Given the description of an element on the screen output the (x, y) to click on. 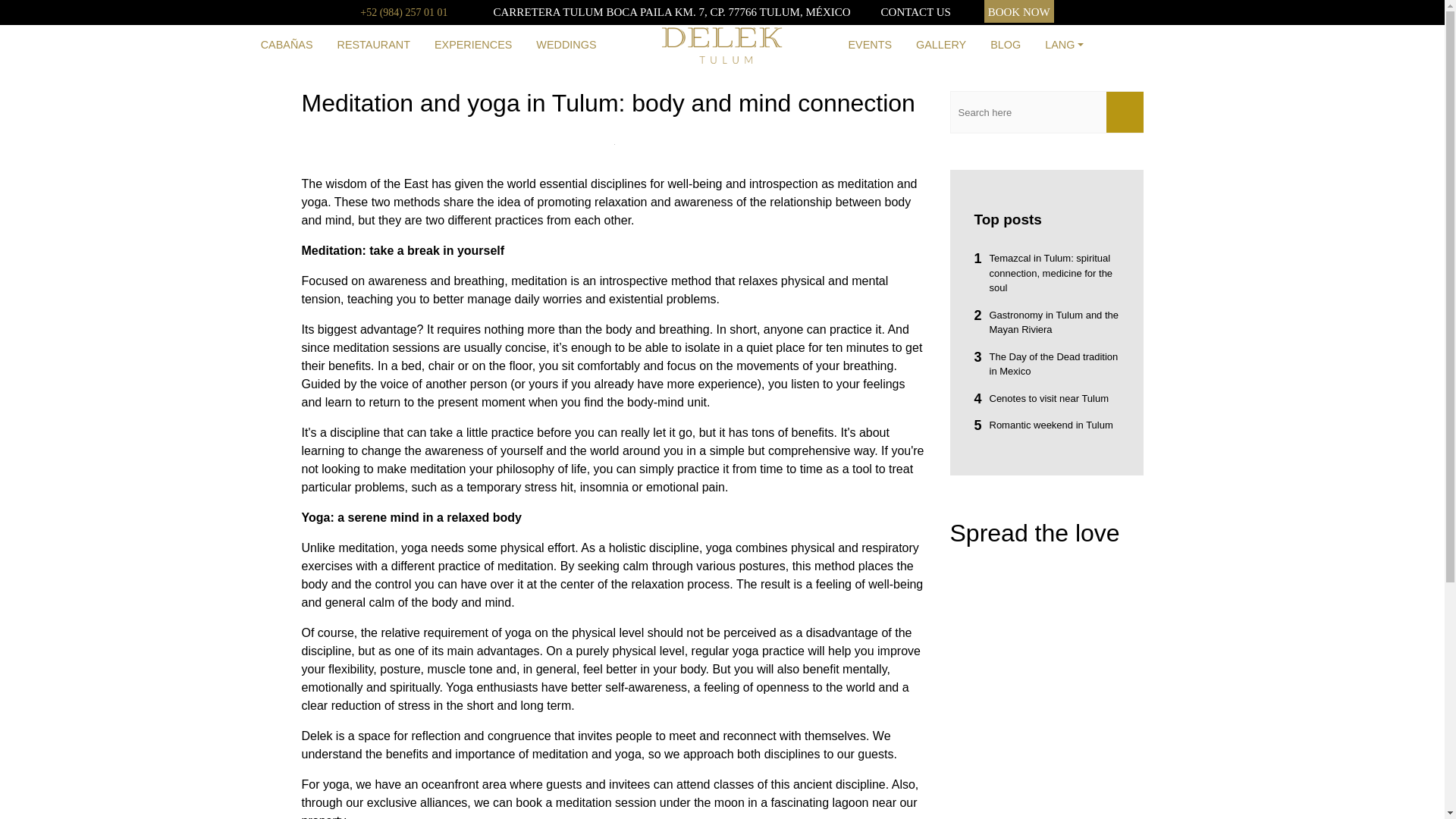
EXPERIENCES (473, 45)
BOOK NOW (1019, 11)
Romantic weekend in Tulum (1046, 425)
CONTACT US (915, 11)
Restaurant (373, 45)
The Day of the Dead tradition in Mexico (1046, 363)
GALLERY (941, 45)
WEDDINGS (566, 45)
Experiences (473, 45)
